Given the description of an element on the screen output the (x, y) to click on. 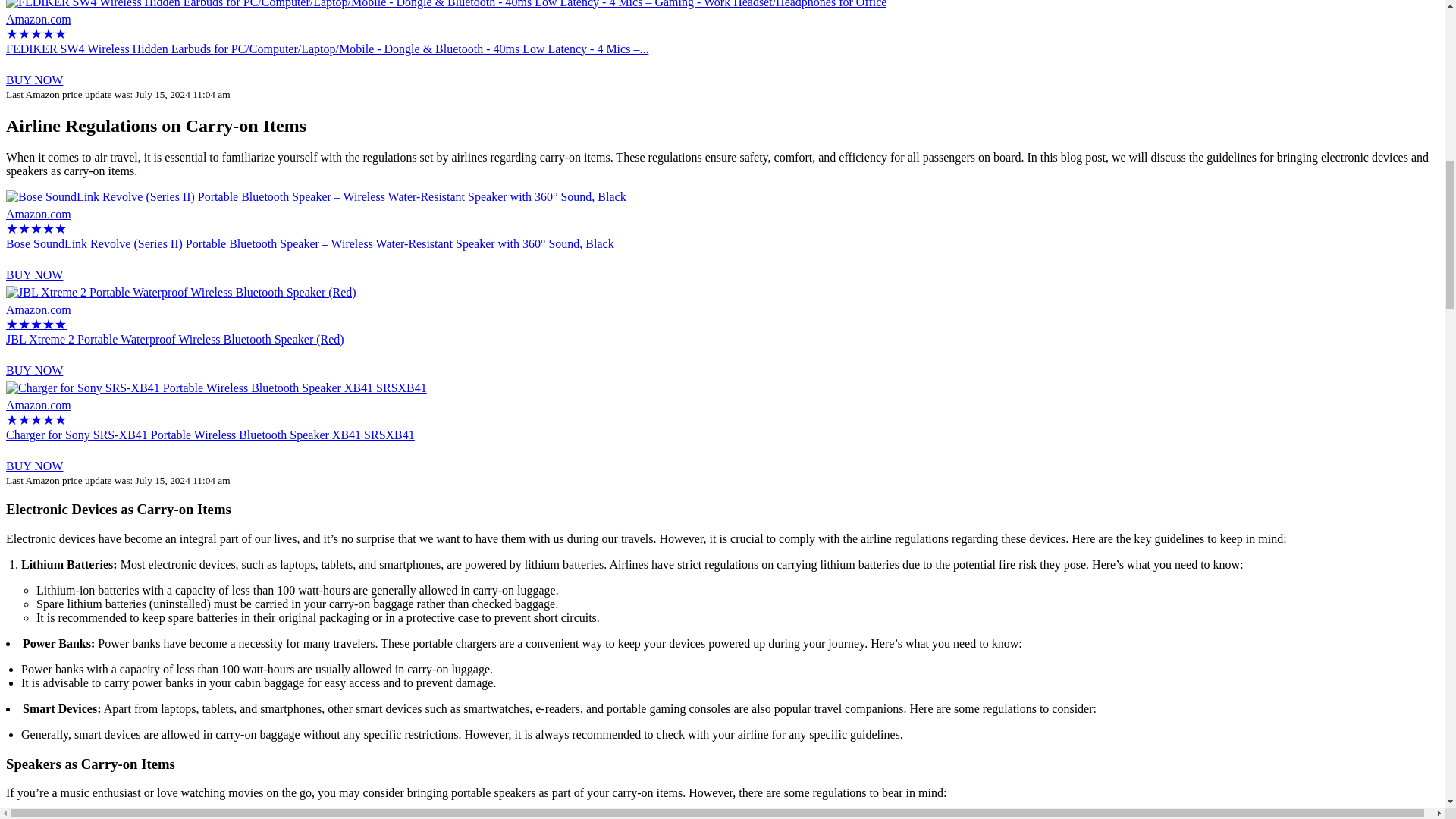
BUY NOW (33, 369)
BUY NOW (33, 79)
BUY NOW (33, 274)
BUY NOW (33, 465)
